Given the description of an element on the screen output the (x, y) to click on. 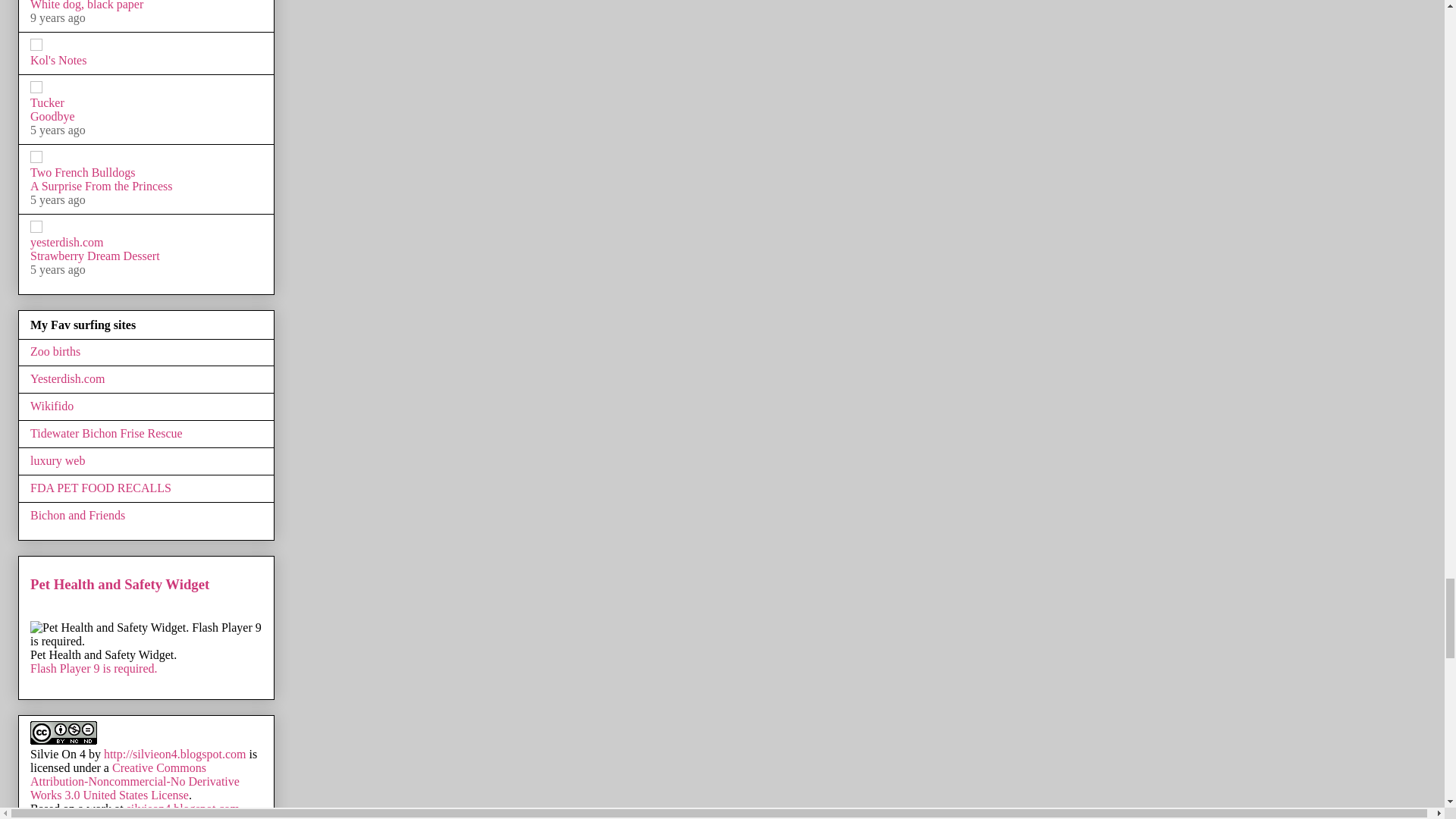
Pet Health and Safety Widget (146, 646)
